Given the description of an element on the screen output the (x, y) to click on. 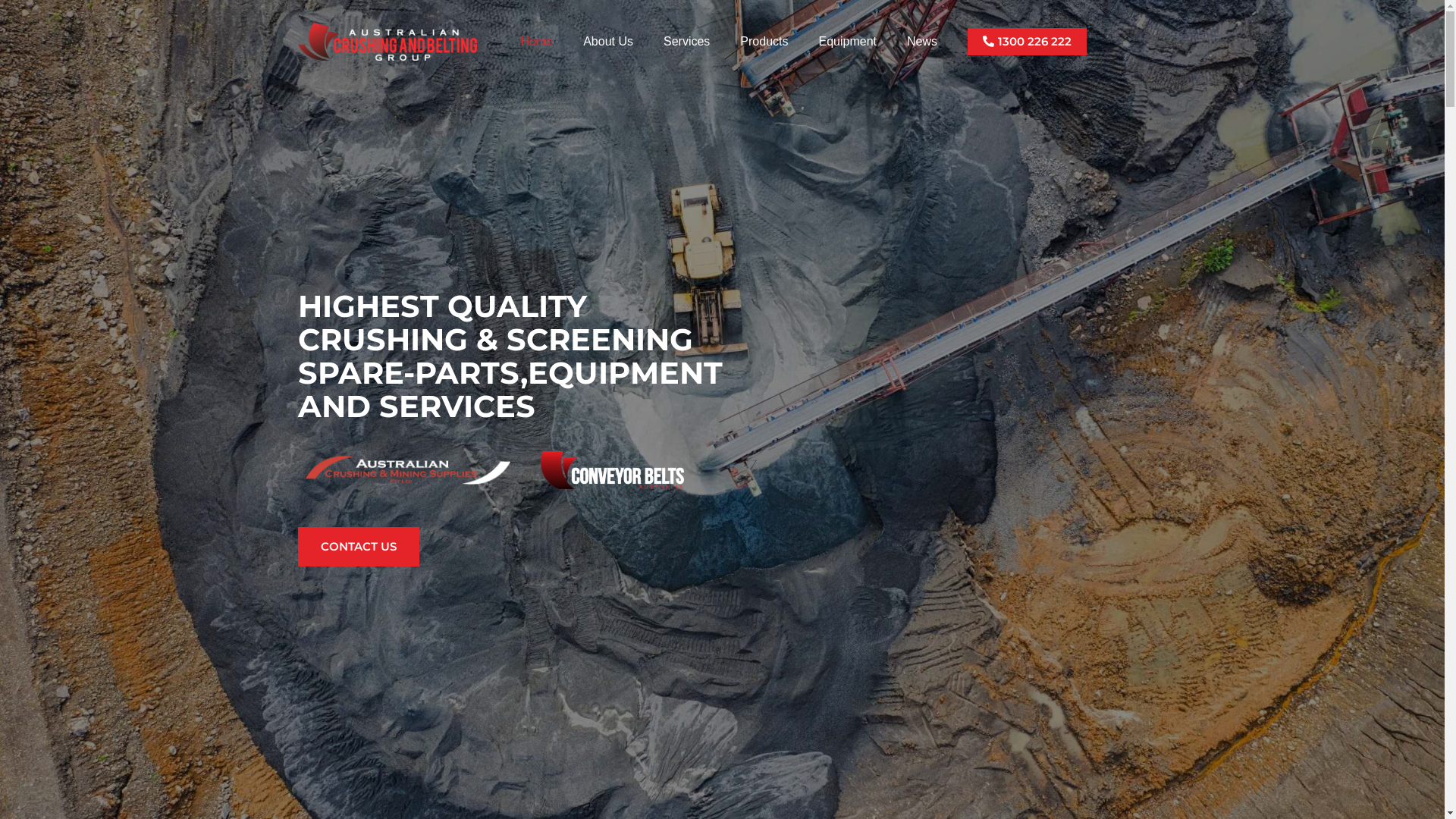
Australian Crushing and Belting Group | Home Element type: hover (406, 470)
Services Element type: text (686, 41)
Products Element type: text (763, 41)
Australian Crushing and Belting Group | Home Element type: hover (386, 41)
About Us Element type: text (607, 41)
CONTACT US Element type: text (357, 547)
Australian Crushing and Belting Group | Home Element type: hover (611, 470)
News Element type: text (921, 41)
Home Element type: text (536, 41)
1300 226 222 Element type: text (1026, 42)
Equipment Element type: text (847, 41)
